Given the description of an element on the screen output the (x, y) to click on. 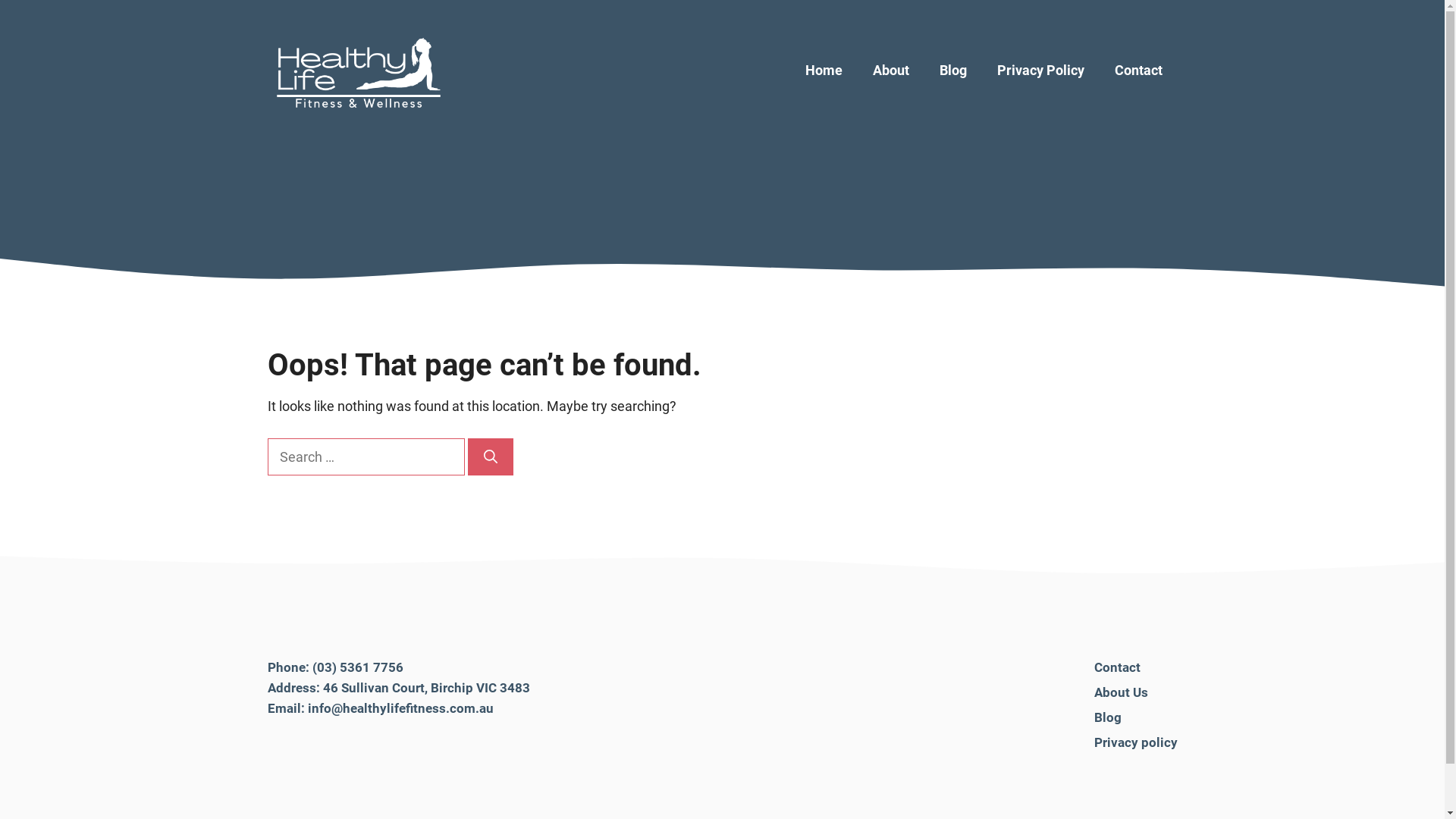
Contact Element type: text (1116, 666)
About Us Element type: text (1120, 691)
About Element type: text (889, 70)
info@healthylifefitness.com.au Element type: text (400, 707)
Blog Element type: text (952, 70)
Home Element type: text (823, 70)
Contact Element type: text (1138, 70)
Privacy policy Element type: text (1134, 741)
Privacy Policy Element type: text (1039, 70)
Search for: Element type: hover (365, 456)
Blog Element type: text (1106, 716)
(03) 5361 7756 Element type: text (357, 666)
